Given the description of an element on the screen output the (x, y) to click on. 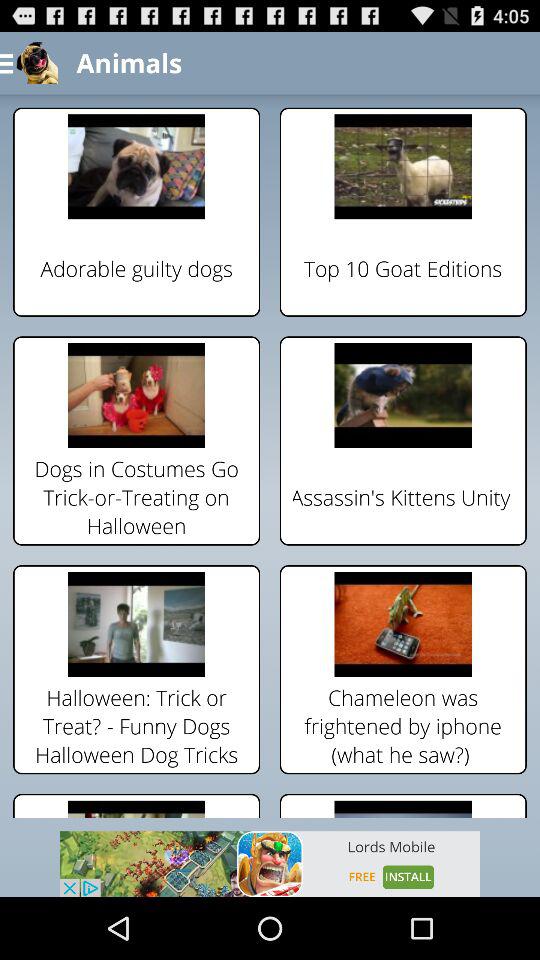
visit advertised site (270, 864)
